Given the description of an element on the screen output the (x, y) to click on. 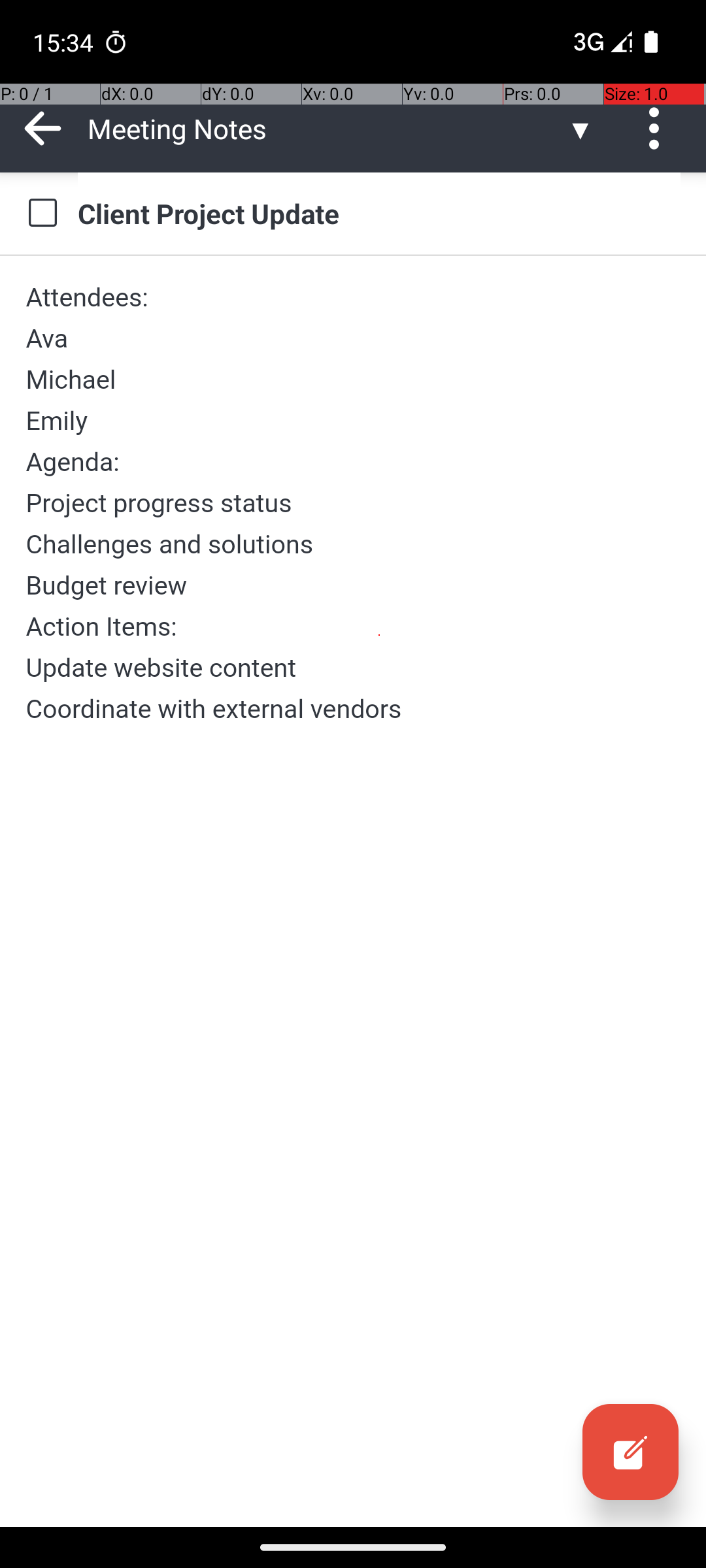
Attendees:
Ava
Michael
Emily
Agenda:
Project progress status
Challenges and solutions
Budget review
Action Items:
Update website content
Coordinate with external vendors Element type: android.widget.TextView (352, 502)
